Given the description of an element on the screen output the (x, y) to click on. 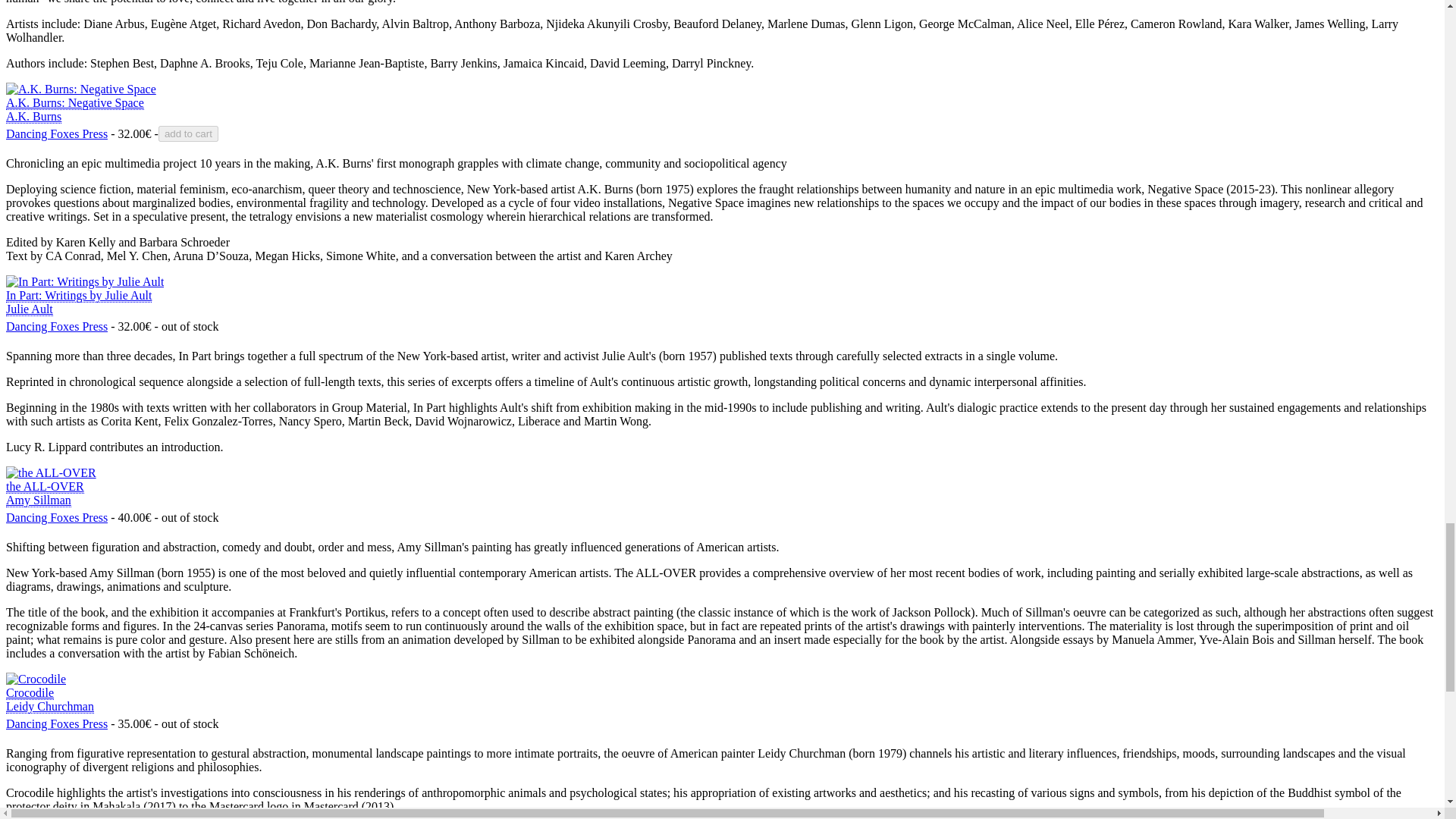
Dancing Foxes Press (78, 302)
In Part: Writings by Julie Ault (56, 723)
Dancing Foxes Press (74, 109)
Dancing Foxes Press (84, 281)
Dancing Foxes Press (44, 492)
Dancing Foxes Press (49, 699)
Dancing Foxes Press (56, 517)
the ALL-OVER (56, 133)
A.K. Burns: Negative Space (56, 723)
Dancing Foxes Press (56, 326)
Crocodile (56, 517)
